Given the description of an element on the screen output the (x, y) to click on. 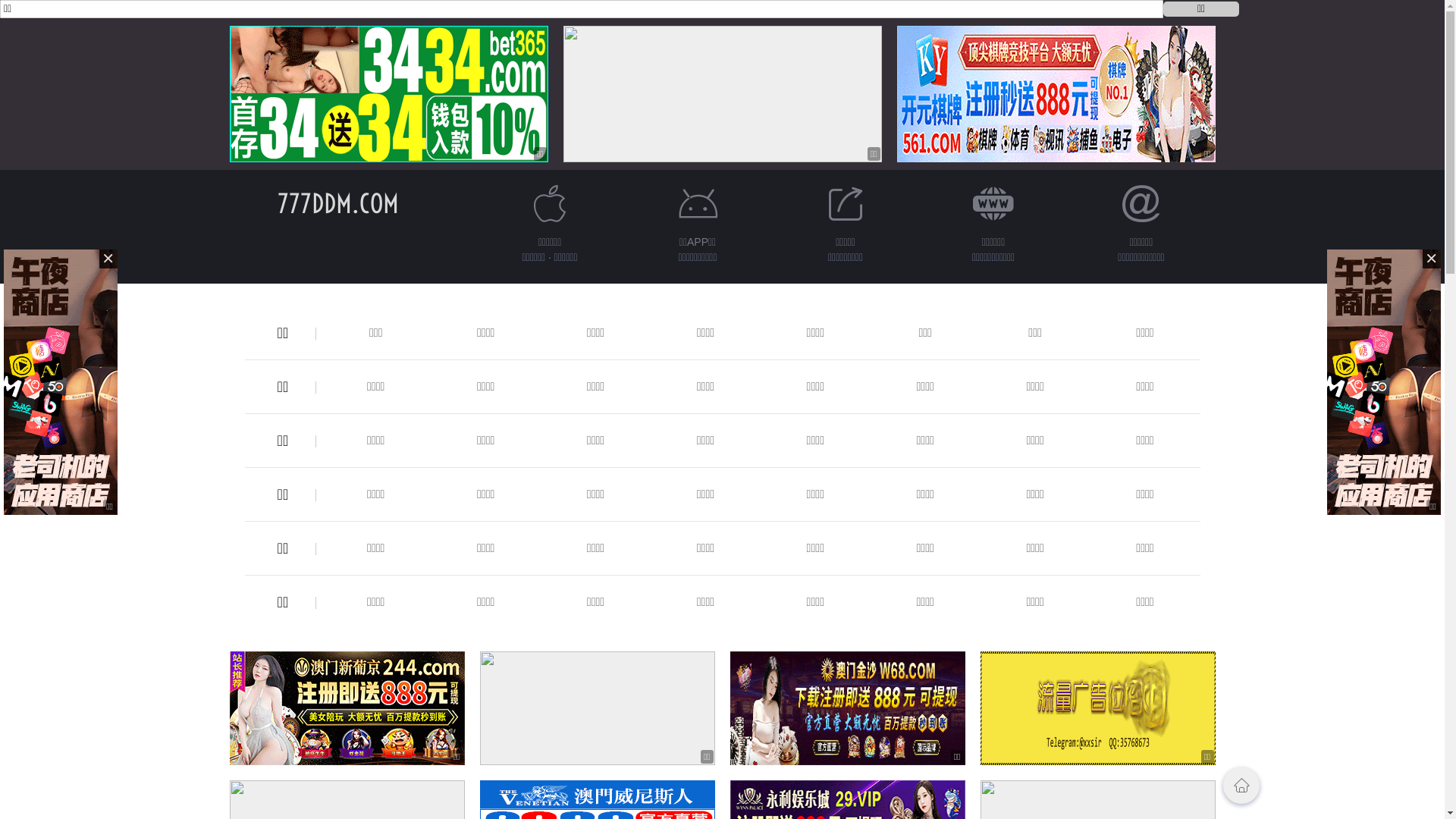
777DDM.COM Element type: text (337, 203)
